Given the description of an element on the screen output the (x, y) to click on. 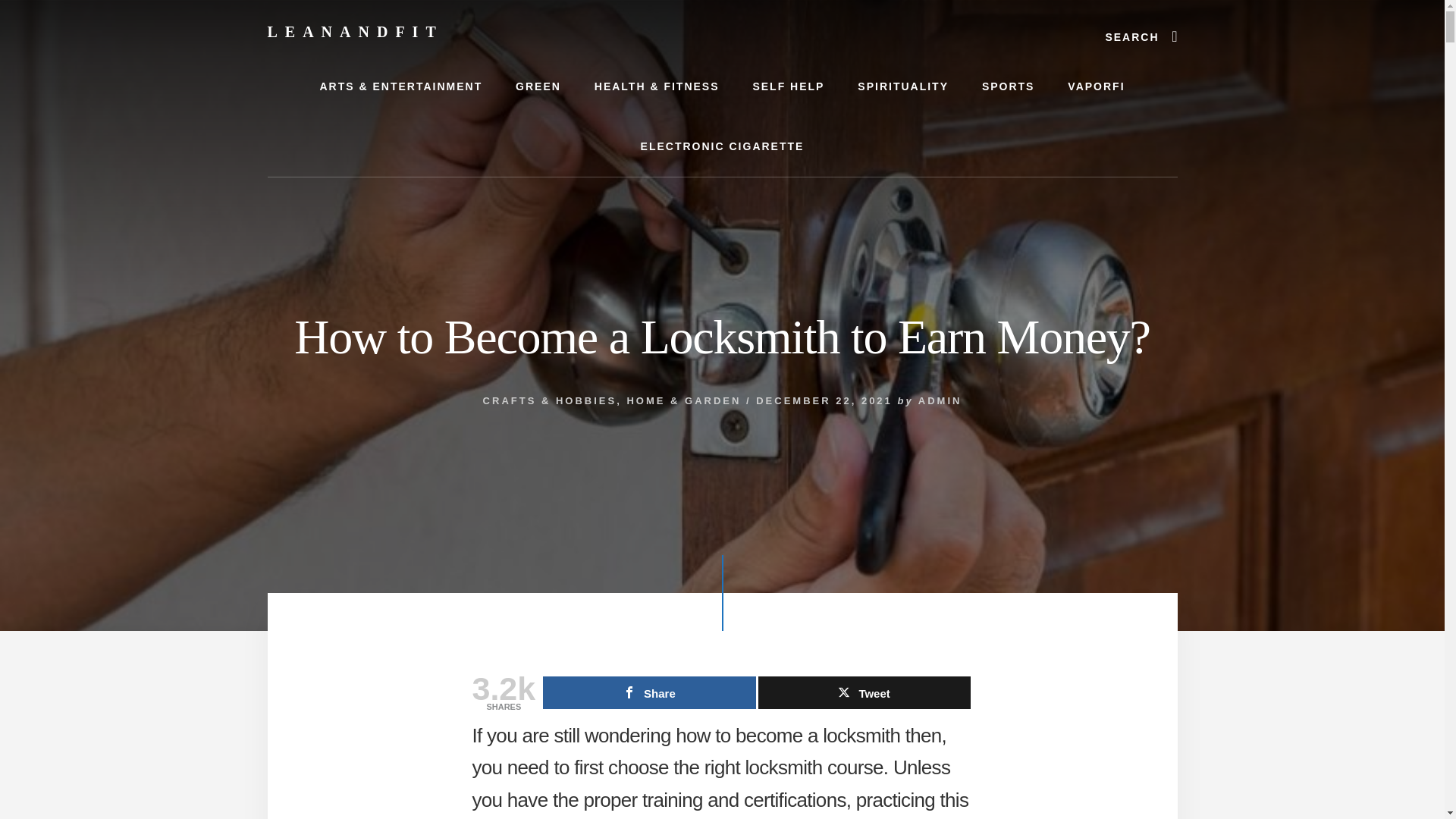
GREEN (538, 86)
LEANANDFIT (354, 31)
